Given the description of an element on the screen output the (x, y) to click on. 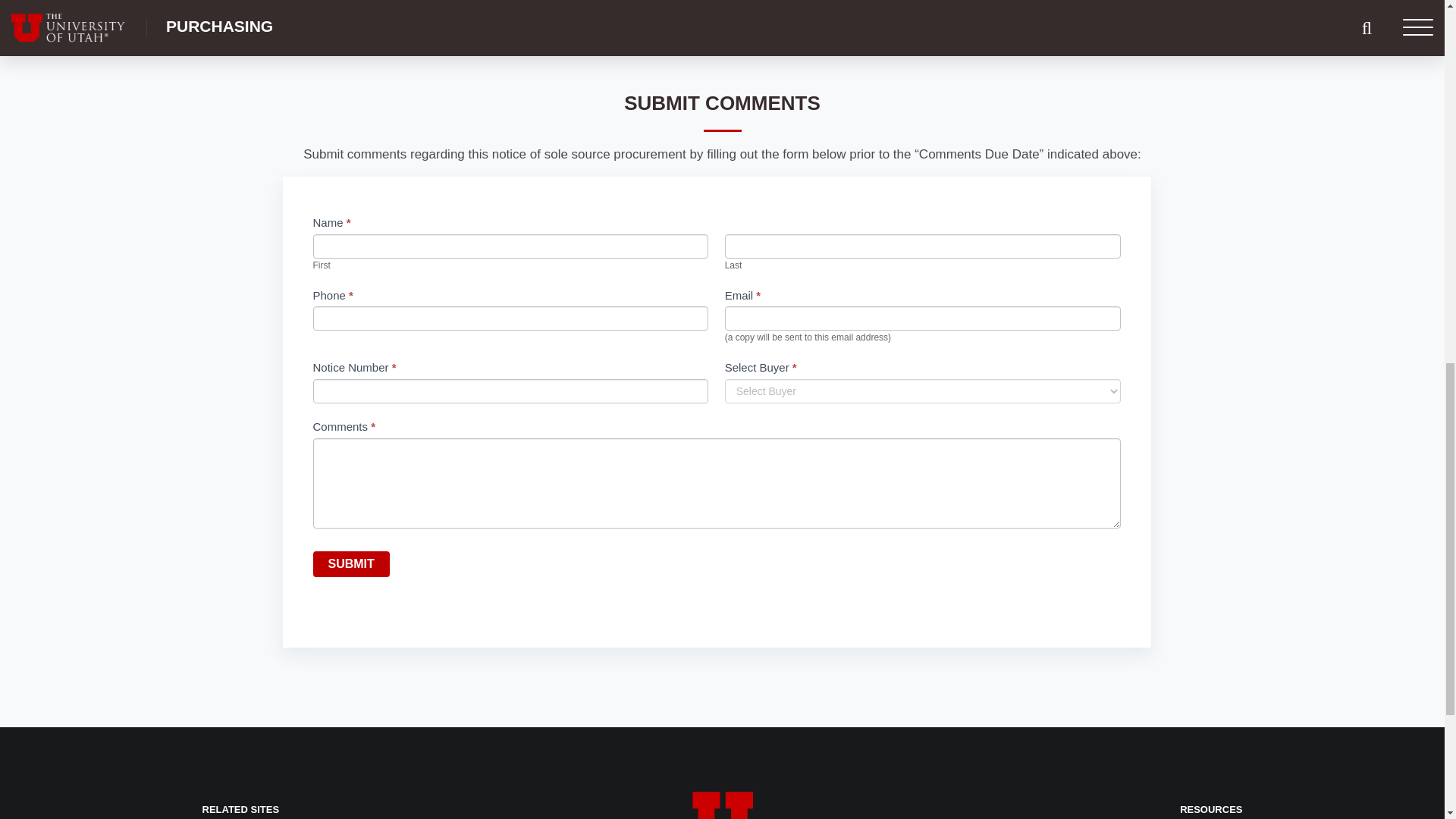
University of Utah (721, 805)
